Given the description of an element on the screen output the (x, y) to click on. 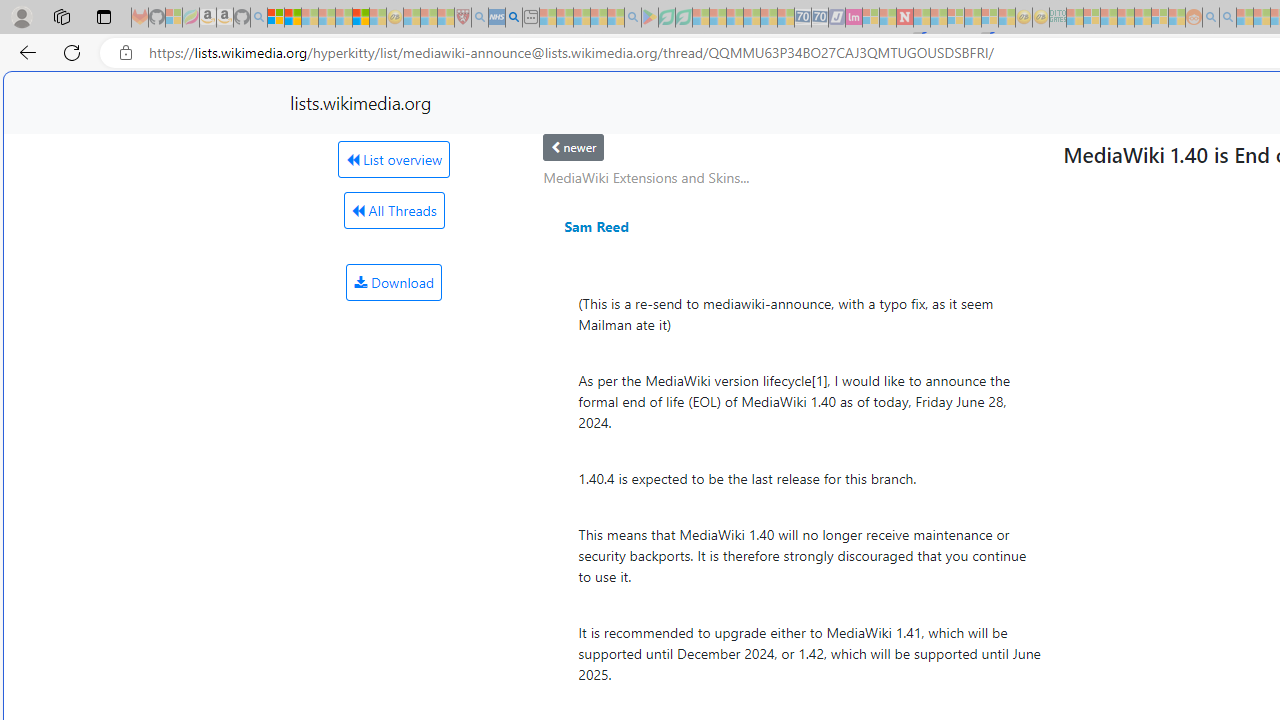
Recipes - MSN - Sleeping (411, 17)
Robert H. Shmerling, MD - Harvard Health - Sleeping (462, 17)
14 Common Myths Debunked By Scientific Facts - Sleeping (938, 17)
Terms of Use Agreement - Sleeping (666, 17)
Local - MSN - Sleeping (445, 17)
Kinda Frugal - MSN - Sleeping (1142, 17)
New Report Confirms 2023 Was Record Hot | Watch - Sleeping (343, 17)
